Given the description of an element on the screen output the (x, y) to click on. 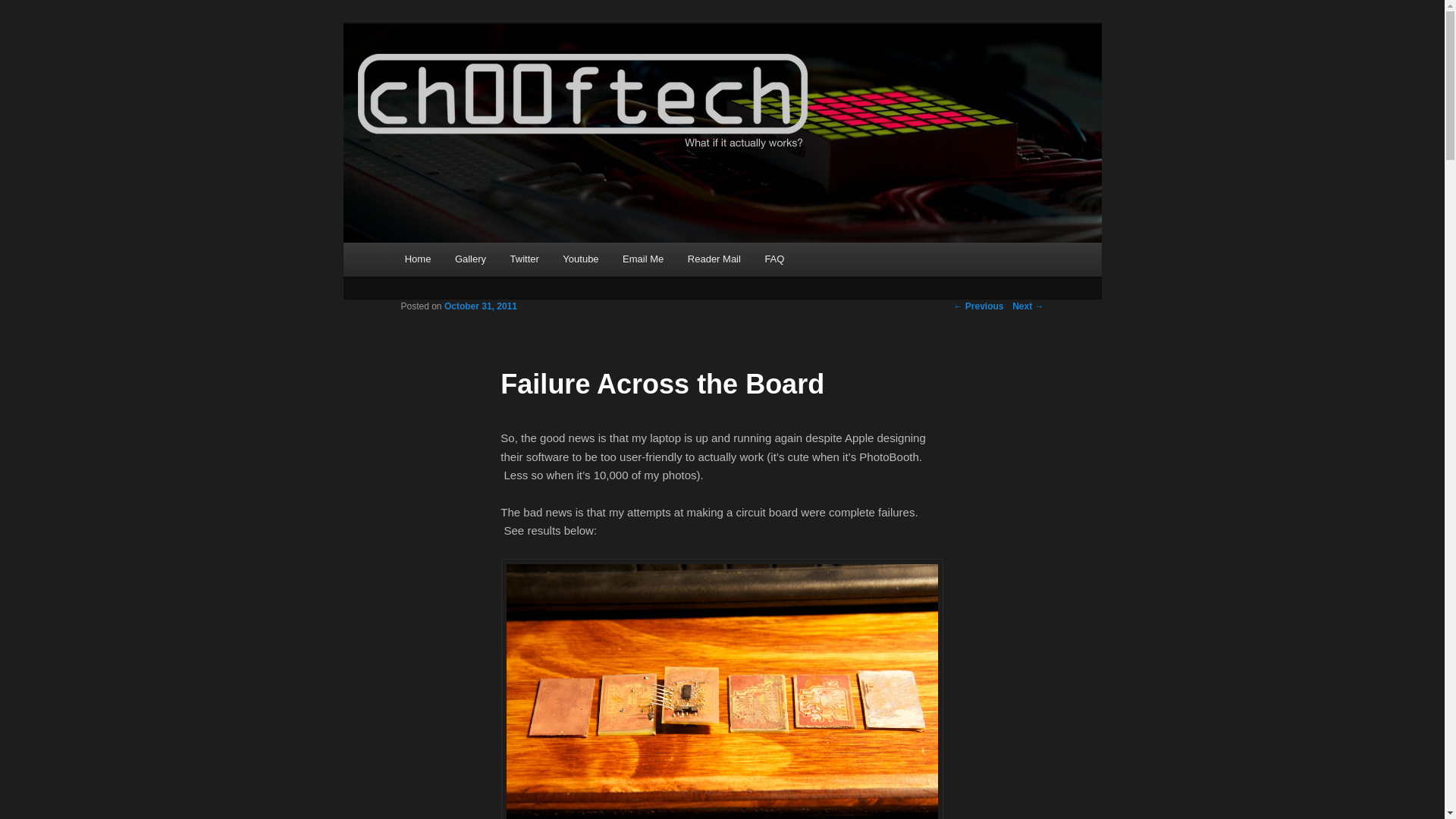
Home (417, 258)
Skip to secondary content (479, 261)
Reader Mail (713, 258)
Skip to primary content (472, 261)
October 31, 2011 (480, 306)
Skip to primary content (472, 261)
Email Me (642, 258)
FAQ (774, 258)
2:36 am (480, 306)
Gallery (469, 258)
Twitter (524, 258)
Youtube (581, 258)
Skip to secondary content (479, 261)
